Given the description of an element on the screen output the (x, y) to click on. 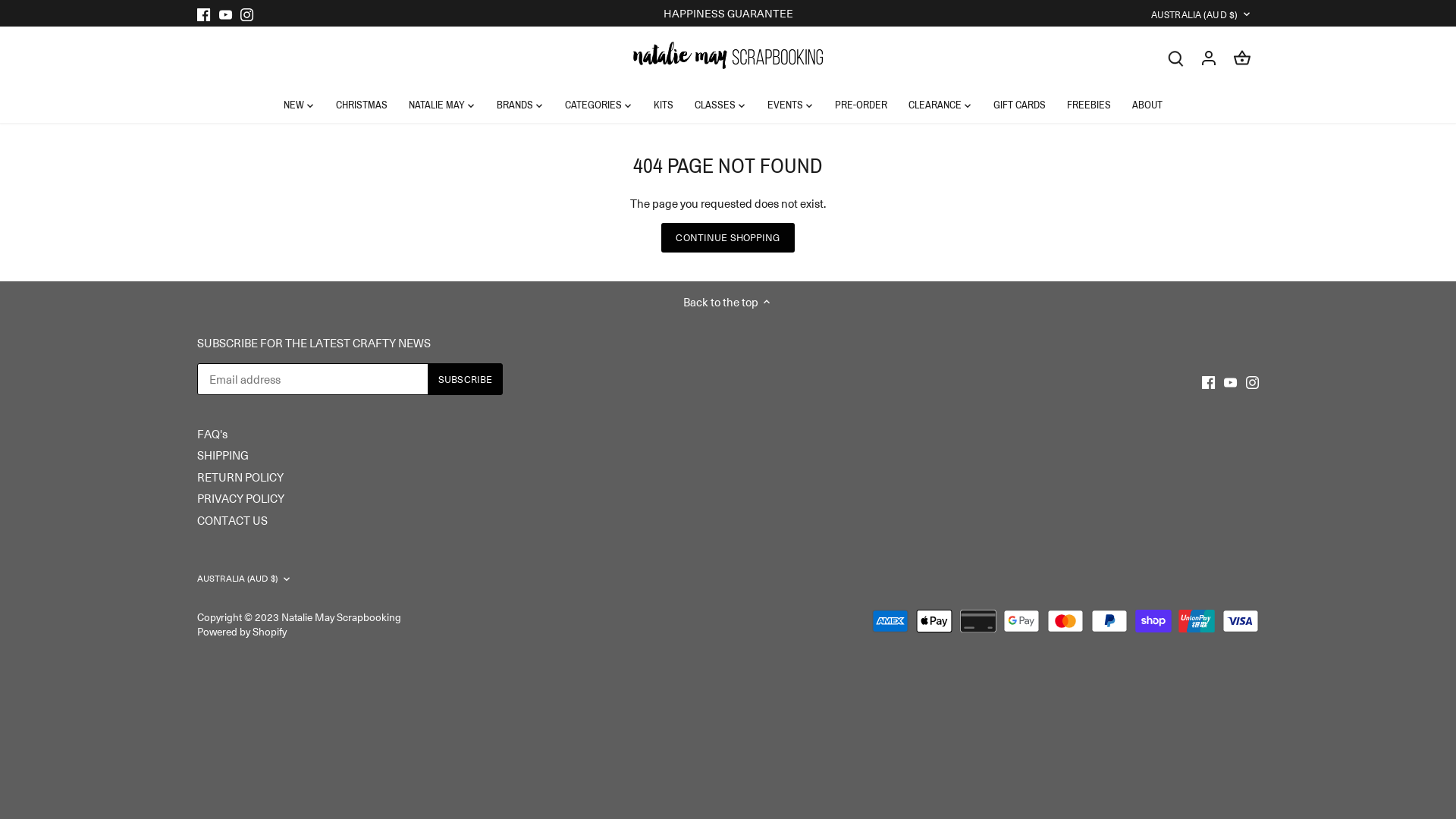
CHRISTMAS Element type: text (360, 104)
FREEBIES Element type: text (1087, 104)
Back to the top Element type: text (727, 301)
Natalie May Scrapbooking Element type: text (341, 616)
FAQ's Element type: text (212, 434)
Facebook Element type: text (203, 13)
CLASSES Element type: text (715, 104)
CONTINUE SHOPPING Element type: text (728, 237)
EVENTS Element type: text (784, 104)
ABOUT Element type: text (1146, 104)
SHIPPING Element type: text (222, 455)
AUSTRALIA (AUD $) Element type: text (244, 578)
CLEARANCE Element type: text (934, 104)
AUSTRALIA (AUD $) Element type: text (1201, 15)
Instagram Element type: text (1251, 381)
Go to cart Element type: hover (1242, 57)
CONTACT US Element type: text (232, 520)
BRANDS Element type: text (513, 104)
Youtube Element type: text (225, 13)
NEW Element type: text (298, 104)
CATEGORIES Element type: text (592, 104)
PRE-ORDER Element type: text (860, 104)
RETURN POLICY Element type: text (240, 477)
Subscribe Element type: text (464, 379)
Youtube Element type: text (1229, 381)
Instagram Element type: text (246, 13)
KITS Element type: text (663, 104)
NATALIE MAY Element type: text (435, 104)
GIFT CARDS Element type: text (1019, 104)
Facebook Element type: text (1207, 381)
Powered by Shopify Element type: text (241, 630)
PRIVACY POLICY Element type: text (240, 498)
